Given the description of an element on the screen output the (x, y) to click on. 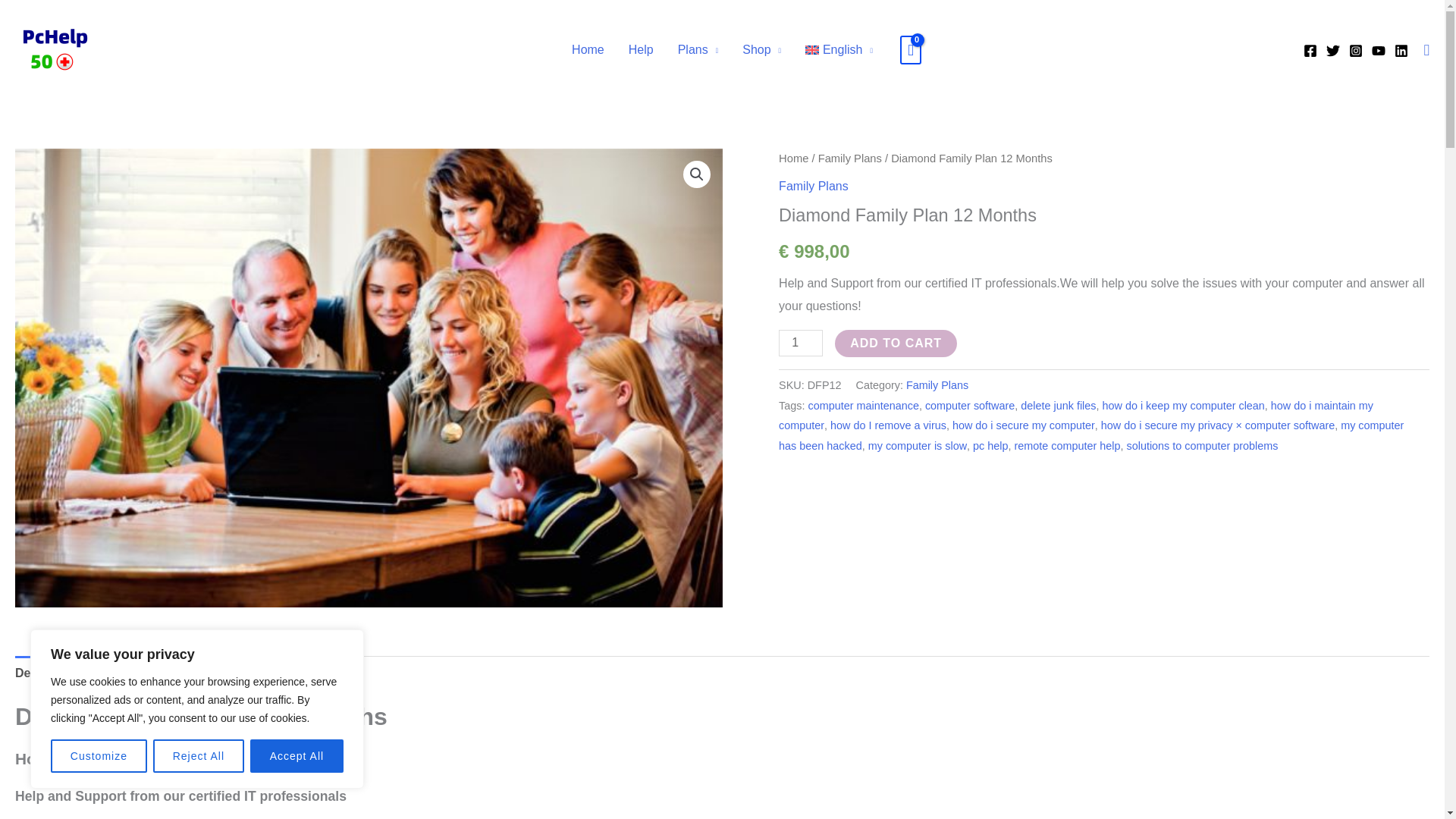
Help (640, 49)
English (839, 49)
Accept All (296, 756)
Plans (697, 49)
Shop (761, 49)
Reject All (198, 756)
Customize (98, 756)
1 (800, 343)
Home (587, 49)
English (839, 49)
